Given the description of an element on the screen output the (x, y) to click on. 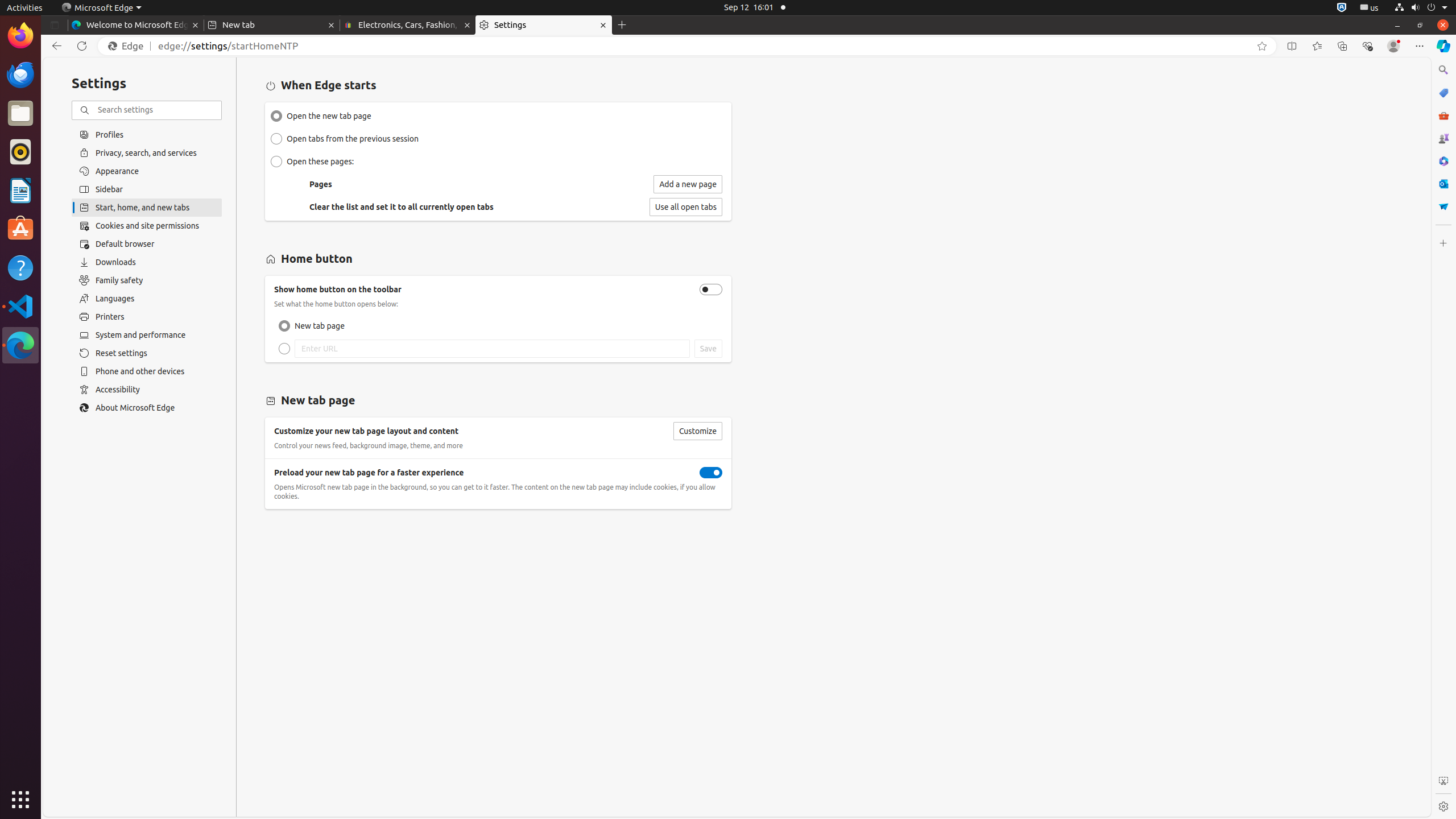
Help Element type: push-button (20, 267)
Accessibility Element type: tree-item (146, 389)
Enter URL Element type: radio-button (284, 348)
Privacy, search, and services Element type: tree-item (146, 152)
Printers Element type: tree-item (146, 316)
